Given the description of an element on the screen output the (x, y) to click on. 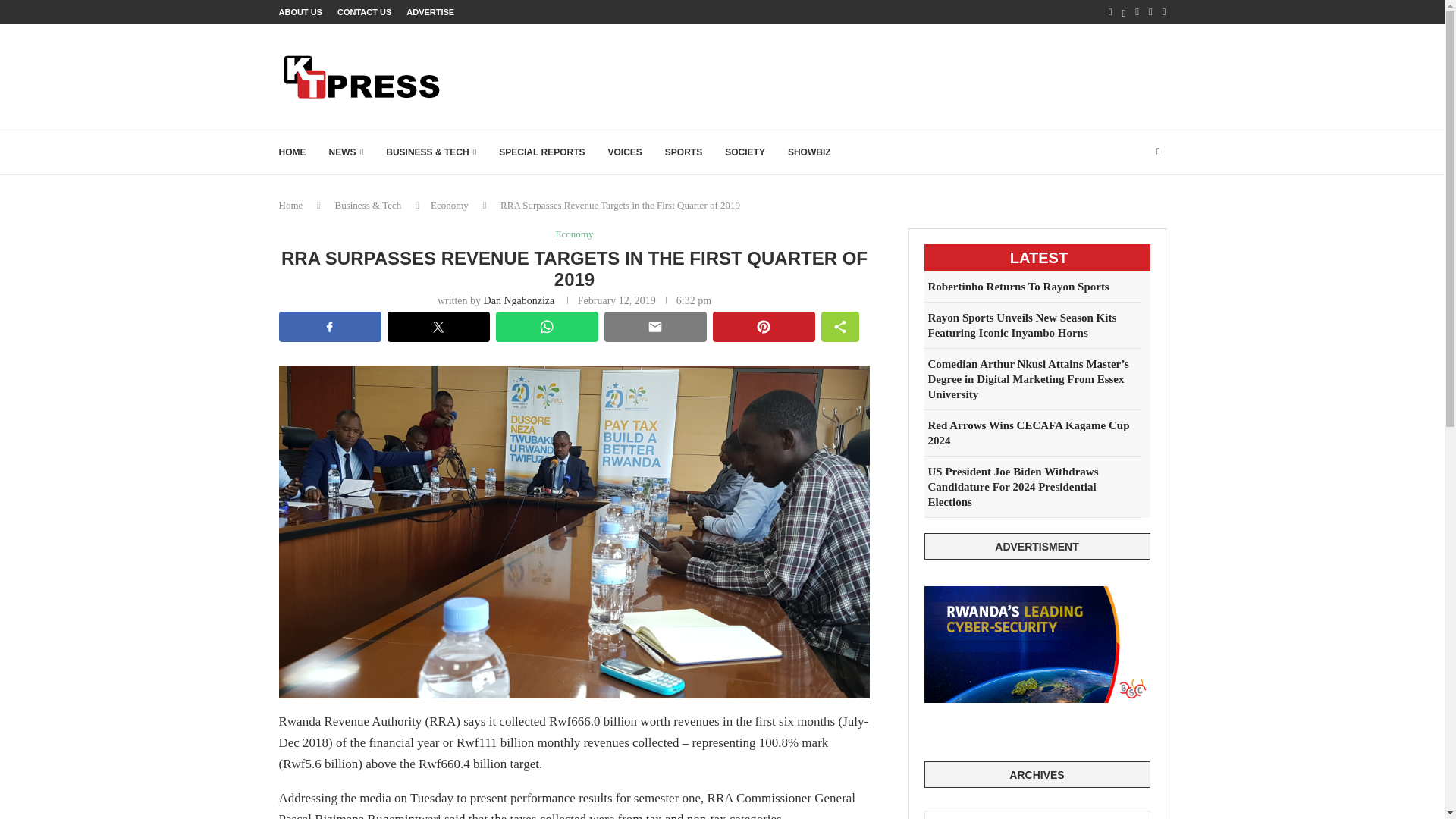
SPORTS (683, 152)
ABOUT US (300, 12)
Robertinho Returns To Rayon Sports (1031, 286)
Dan Ngabonziza (518, 300)
HOME (292, 152)
Economy (449, 204)
Economy (575, 234)
Home (290, 204)
VOICES (625, 152)
SHOWBIZ (809, 152)
ADVERTISE (430, 12)
SOCIETY (745, 152)
Dan Ngabonziza (518, 300)
NEWS (346, 152)
CONTACT US (364, 12)
